Given the description of an element on the screen output the (x, y) to click on. 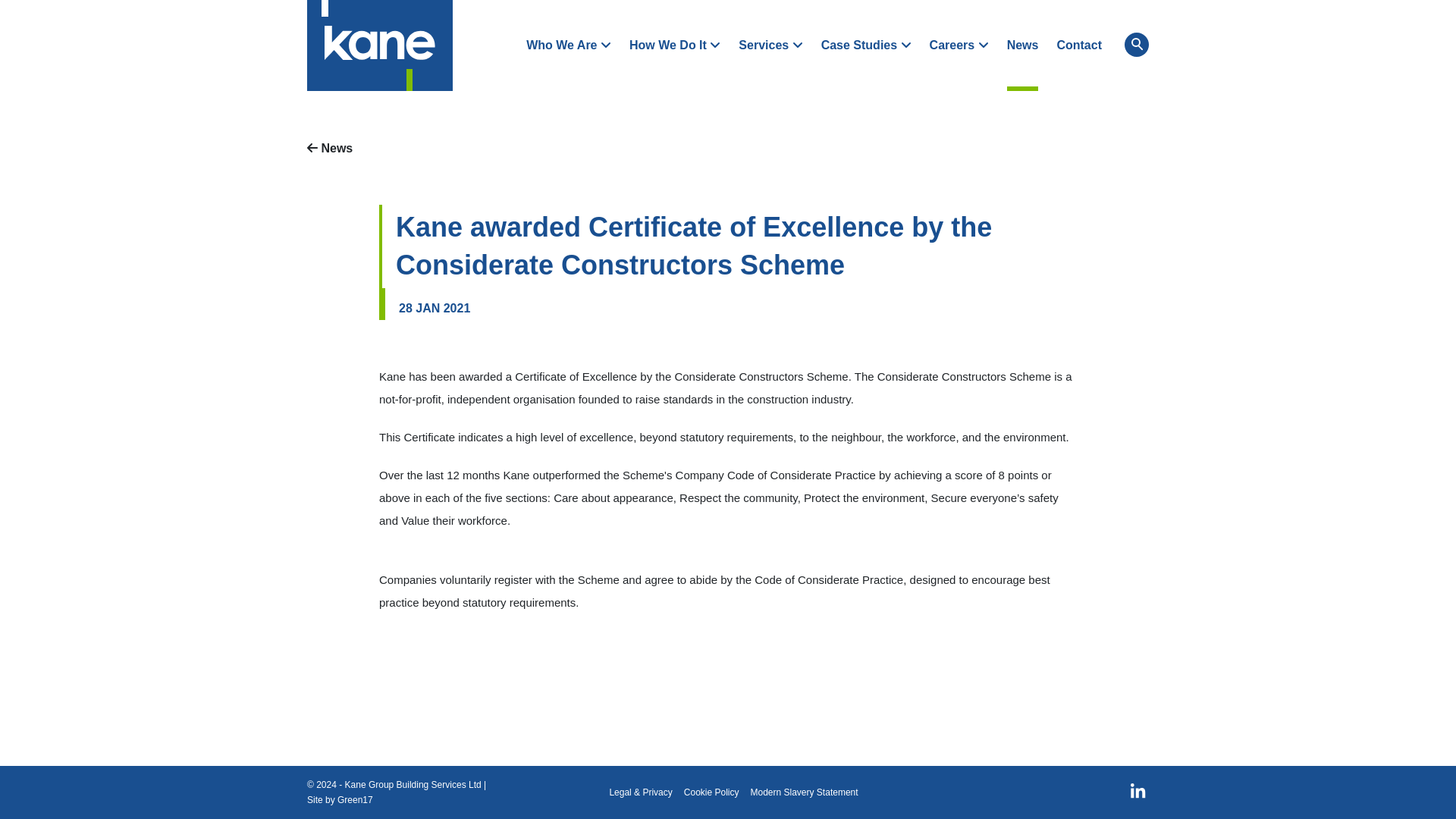
Services (770, 45)
How We Do It (674, 45)
Who We Are (568, 45)
Case Studies (866, 45)
Contact (1079, 45)
Careers (959, 45)
